Given the description of an element on the screen output the (x, y) to click on. 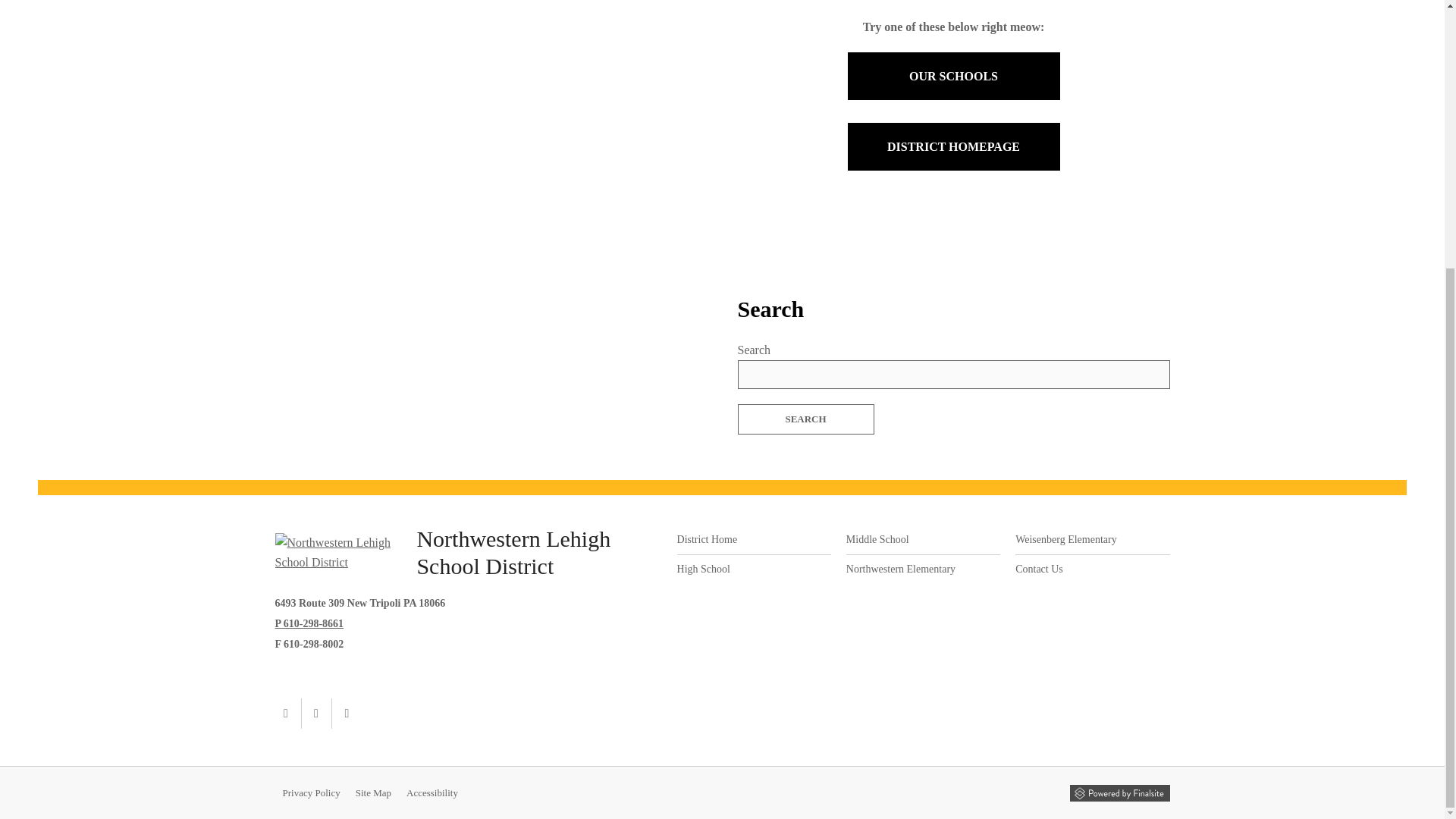
Powered by Finalsite opens in a new window (1118, 791)
